Given the description of an element on the screen output the (x, y) to click on. 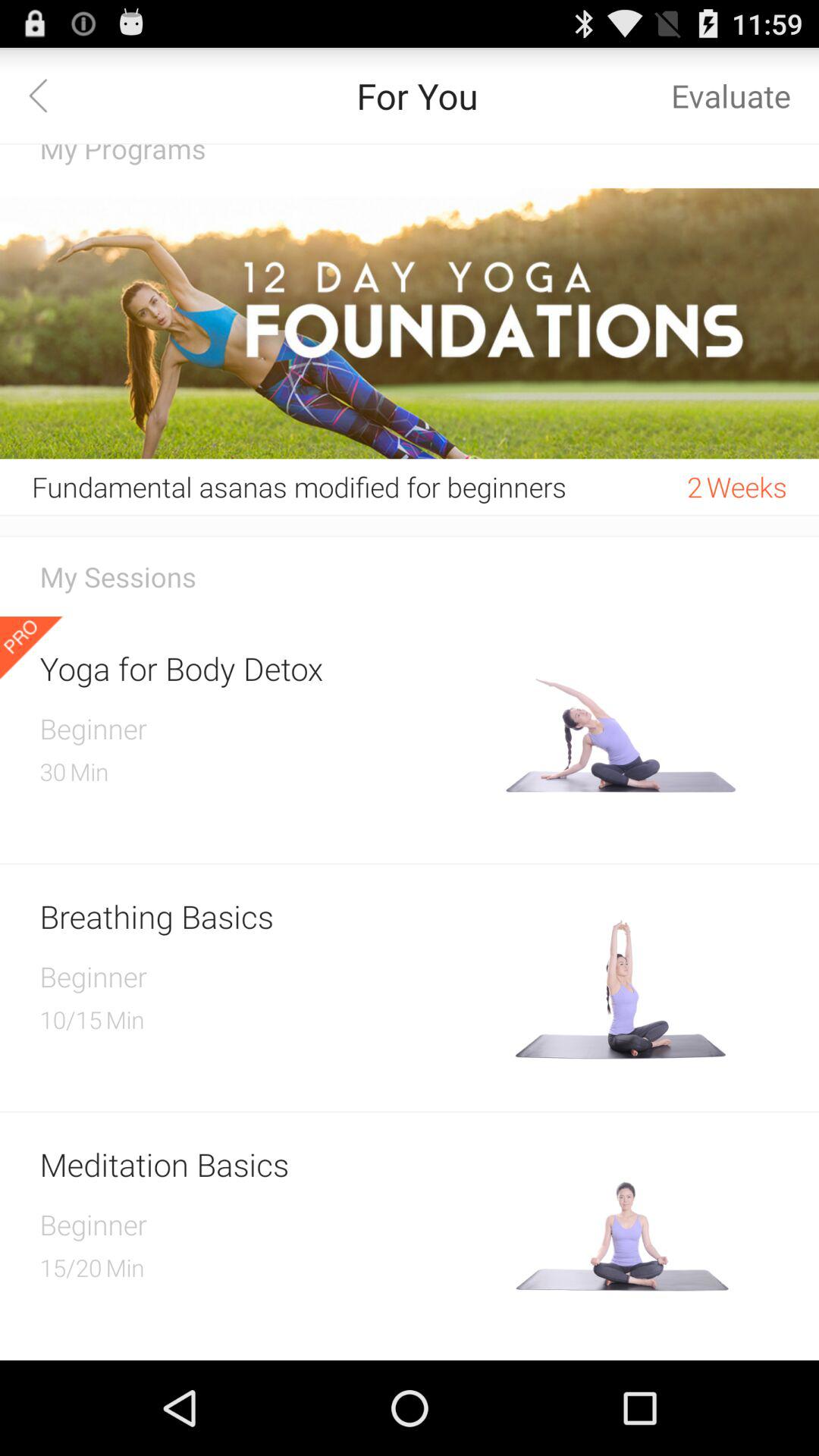
turn off the meditation basics icon (266, 1163)
